Given the description of an element on the screen output the (x, y) to click on. 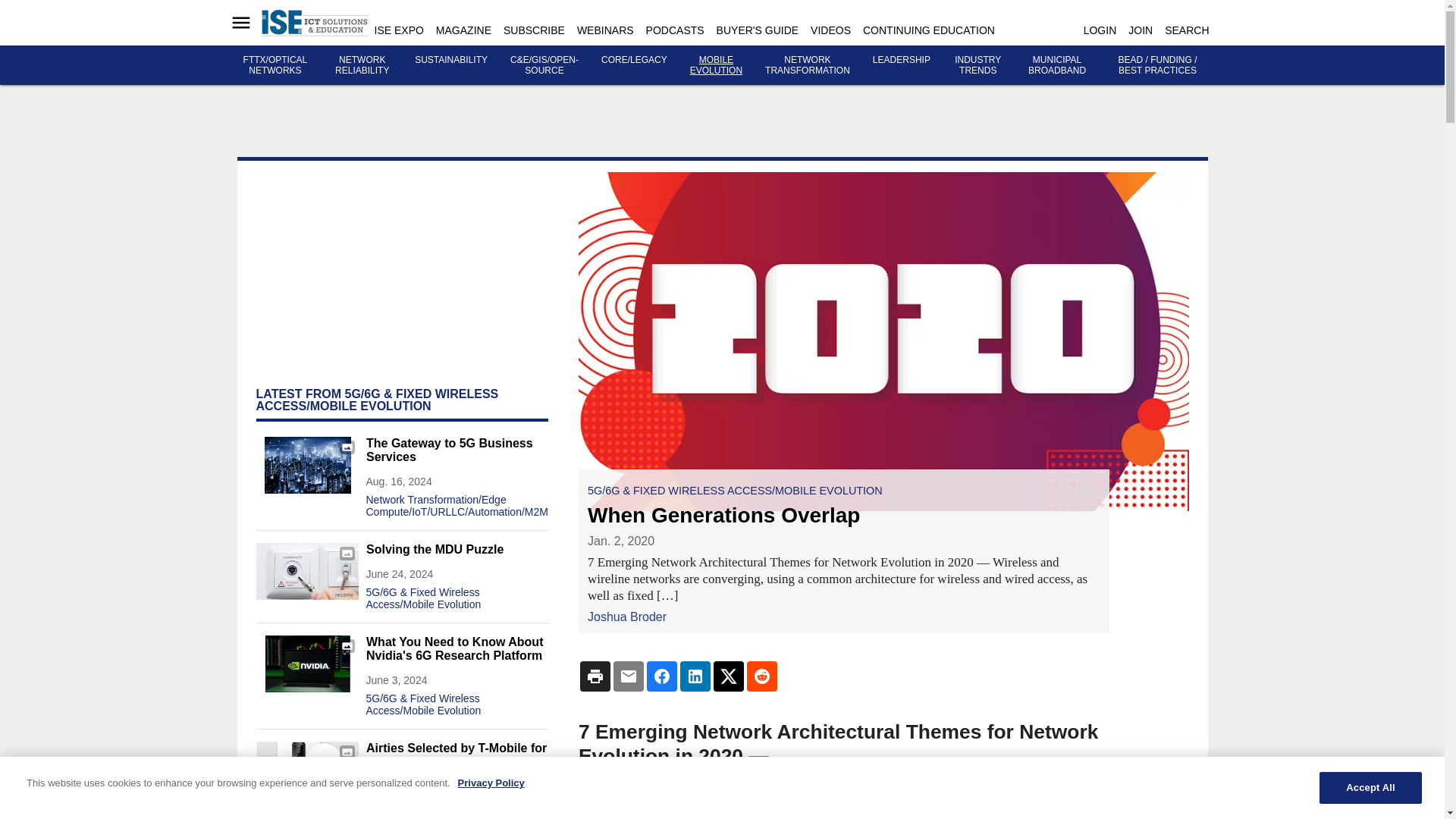
MAGAZINE (463, 30)
NETWORK RELIABILITY (361, 65)
INDUSTRY TRENDS (978, 65)
PODCASTS (675, 30)
BUYER'S GUIDE (756, 30)
JOIN (1140, 30)
NETWORK TRANSFORMATION (807, 65)
VIDEOS (830, 30)
WEBINARS (604, 30)
